Given the description of an element on the screen output the (x, y) to click on. 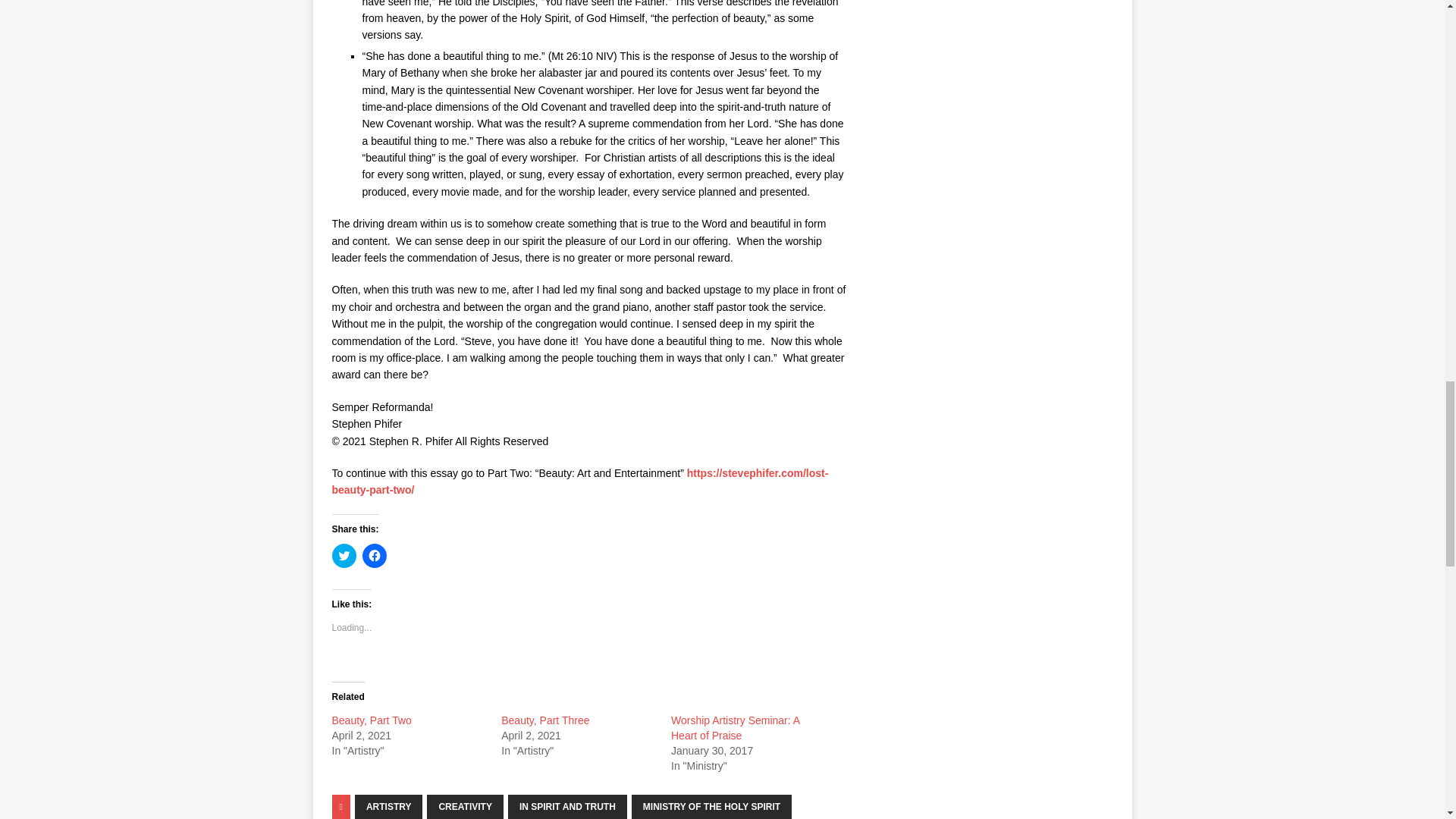
ARTISTRY (389, 806)
Click to share on Facebook (374, 555)
Beauty, Part Three (544, 720)
MINISTRY OF THE HOLY SPIRIT (711, 806)
Beauty, Part Three (544, 720)
Worship Artistry Seminar: A Heart of Praise (735, 728)
Click to share on Twitter (343, 555)
Beauty, Part Two (371, 720)
Worship Artistry Seminar: A Heart of Praise (735, 728)
CREATIVITY (464, 806)
